Given the description of an element on the screen output the (x, y) to click on. 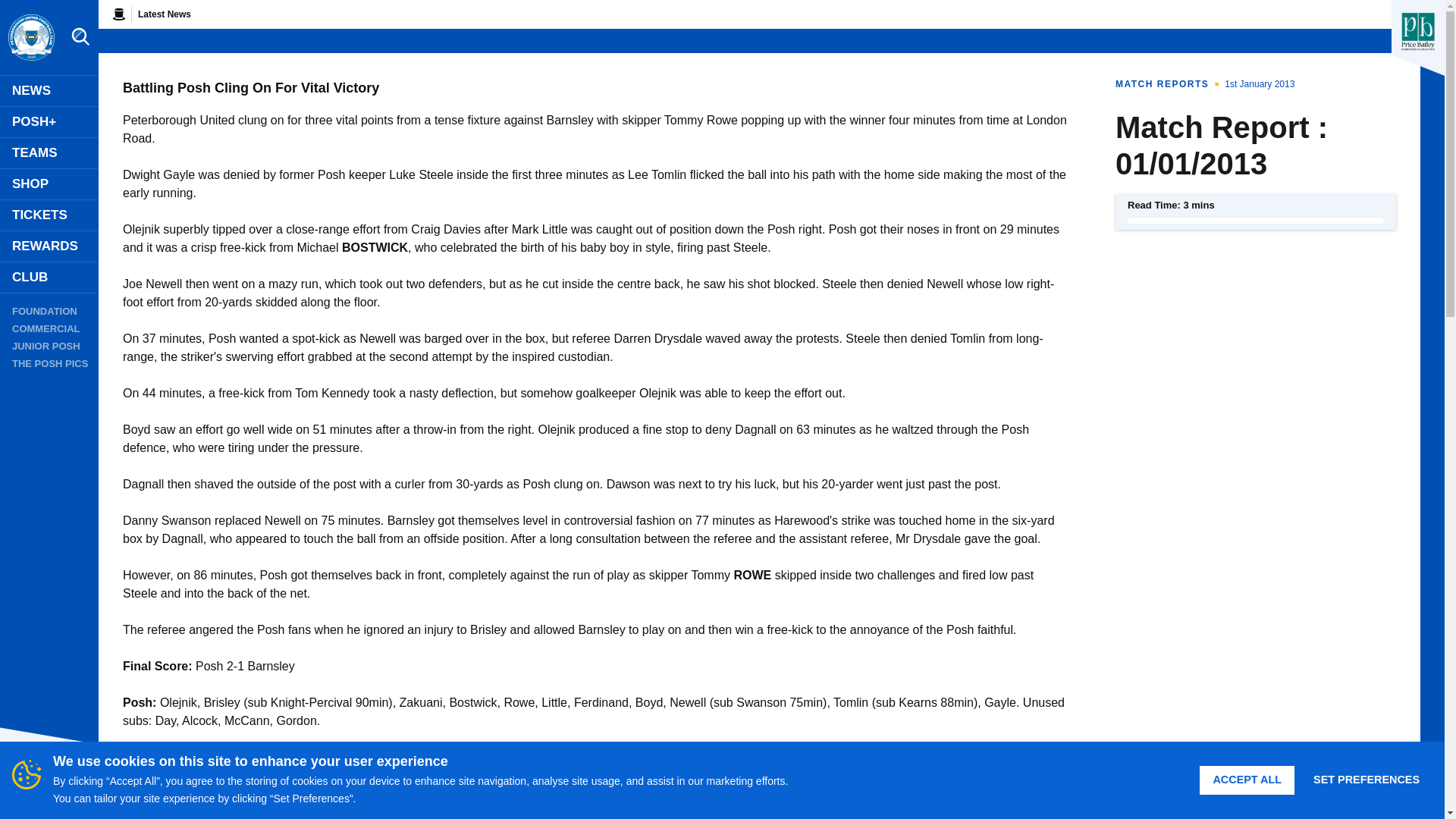
NEWS (49, 91)
Link to Peterborough United homepage (31, 37)
TEAMS (49, 153)
News (49, 91)
